Given the description of an element on the screen output the (x, y) to click on. 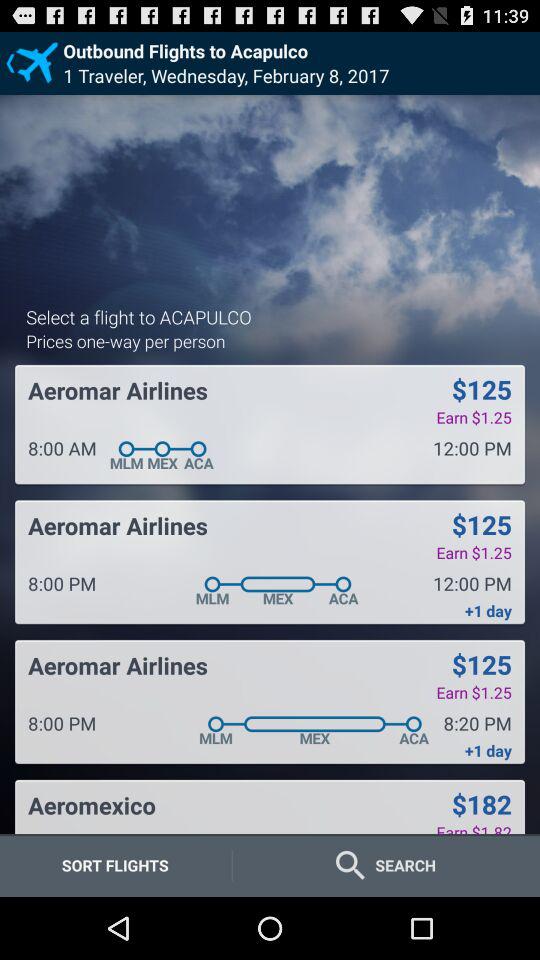
flip to the sort flights item (115, 864)
